Given the description of an element on the screen output the (x, y) to click on. 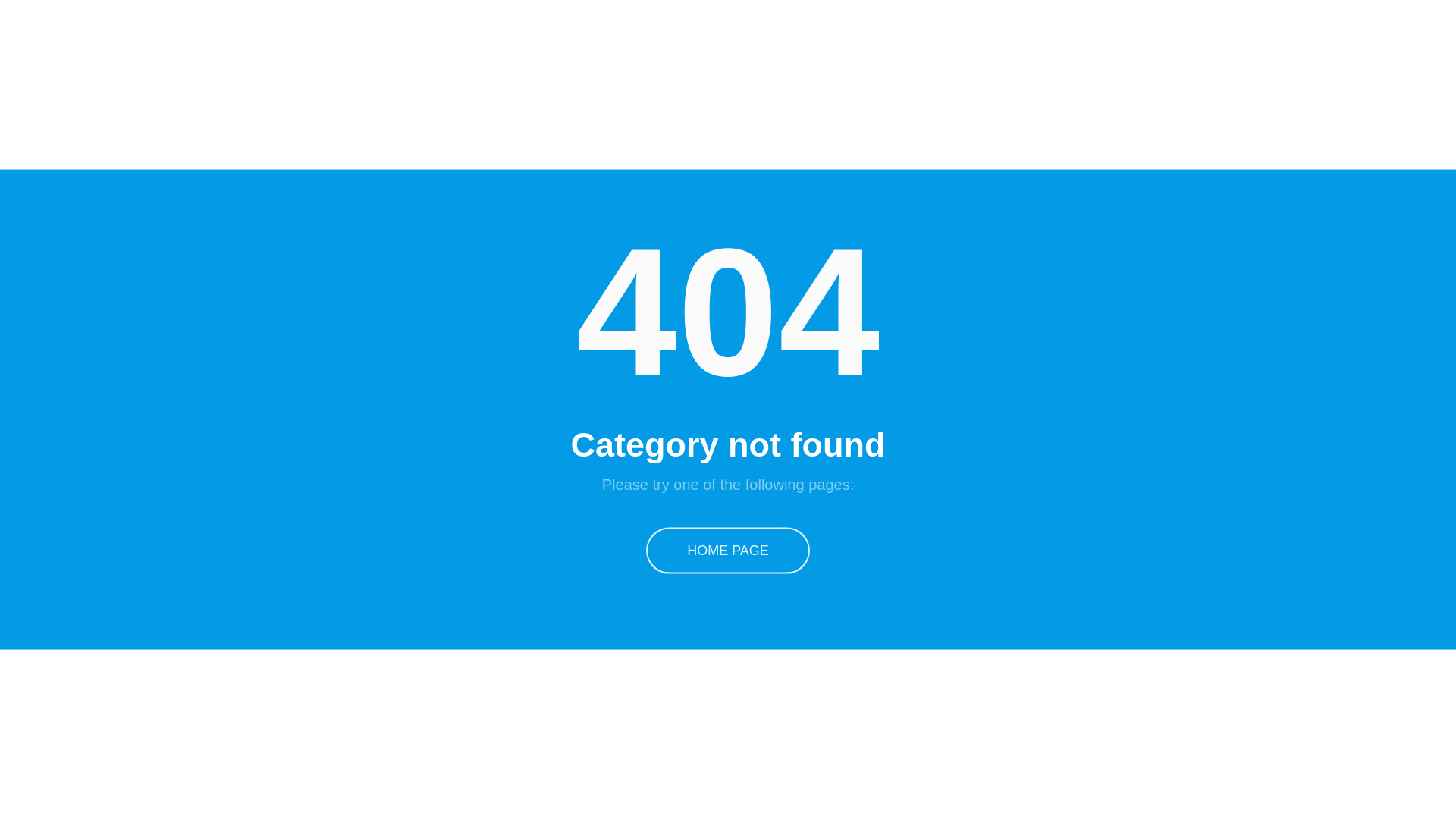
HOME PAGE Element type: text (727, 550)
